Given the description of an element on the screen output the (x, y) to click on. 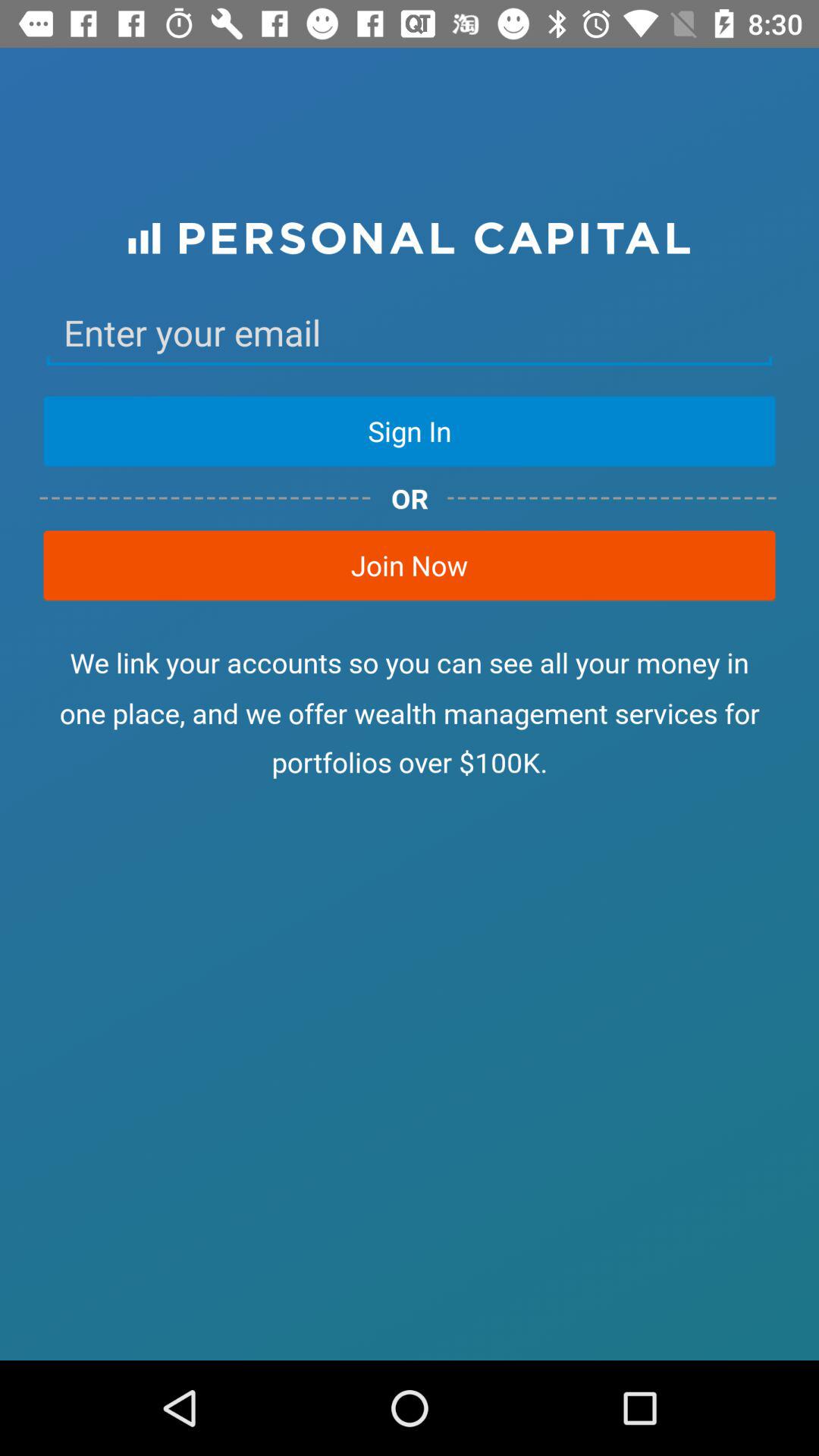
enter email address (409, 333)
